Given the description of an element on the screen output the (x, y) to click on. 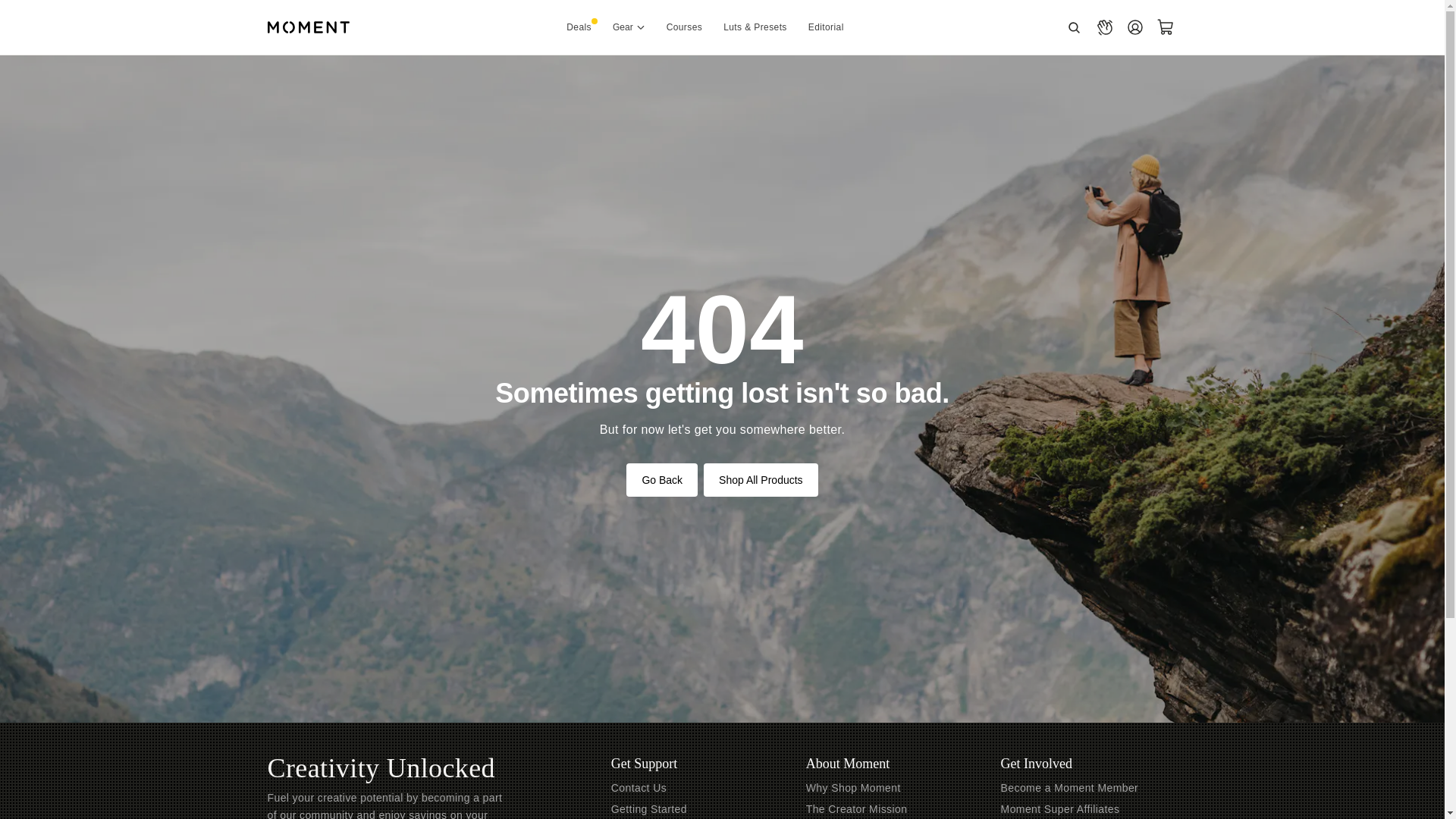
Login (1134, 27)
Shop All Products (760, 479)
Editorial (826, 27)
Go Back (661, 479)
Courses (684, 27)
Deals (578, 27)
Contact Us (638, 787)
The Creator Mission (856, 808)
Getting Started (649, 808)
Become a Moment Member (1069, 787)
Get Involved (1036, 762)
Moment Super Affiliates (1060, 808)
Connect (1104, 27)
Get Support (644, 762)
About Moment (847, 762)
